Given the description of an element on the screen output the (x, y) to click on. 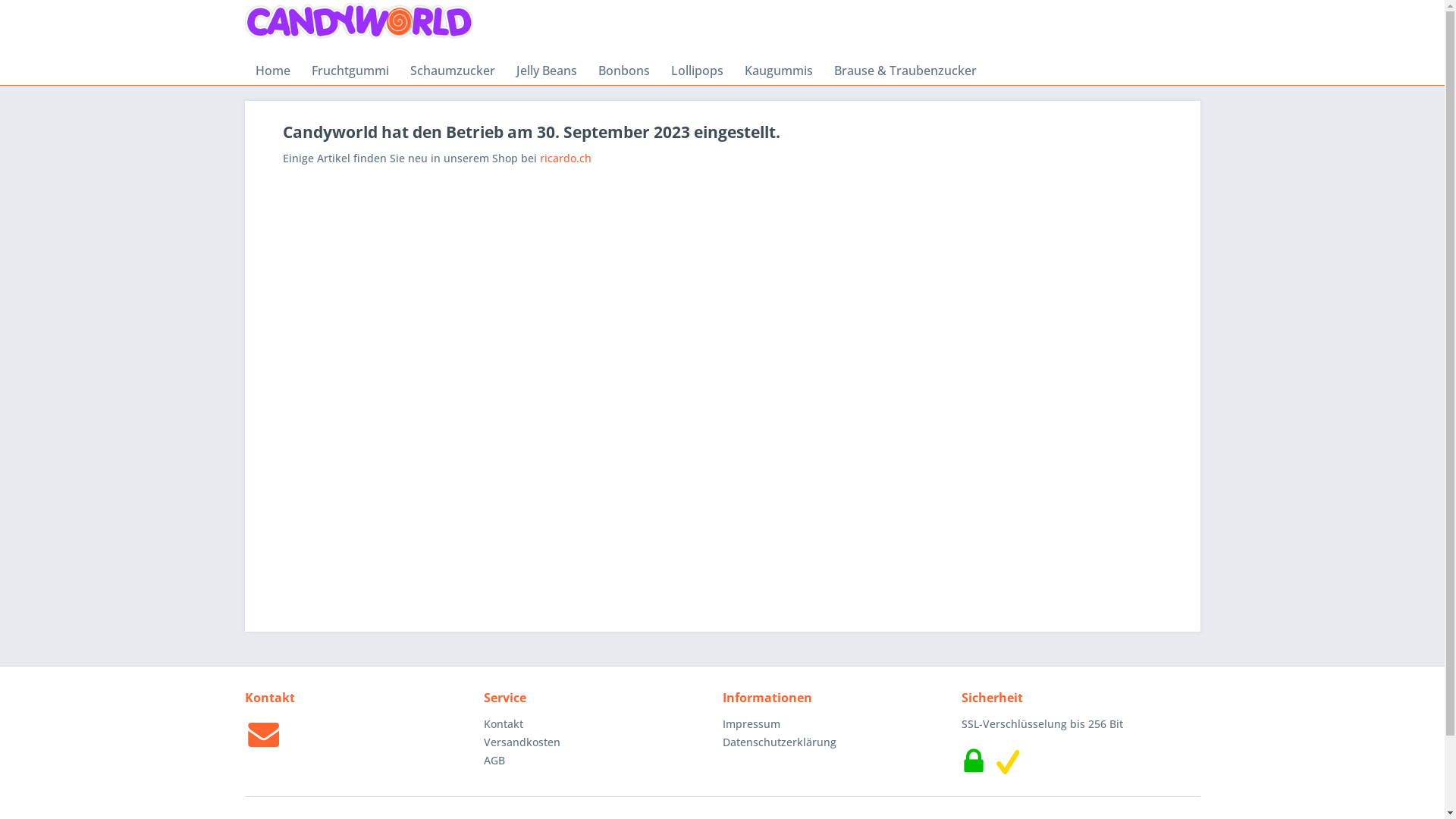
Jelly Beans Element type: text (545, 70)
AGB Element type: text (599, 760)
Fruchtgummi Element type: text (349, 70)
Candyworld - zur Startseite wechseln Element type: hover (358, 21)
Brause & Traubenzucker Element type: text (905, 70)
Home Element type: text (272, 70)
Impressum Element type: text (837, 724)
Schaumzucker Element type: text (451, 70)
Versandkosten Element type: text (599, 742)
Lollipops Element type: text (696, 70)
Bonbons Element type: text (622, 70)
ricardo.ch Element type: text (565, 157)
Kontakt Element type: text (599, 724)
Kaugummis Element type: text (778, 70)
